Given the description of an element on the screen output the (x, y) to click on. 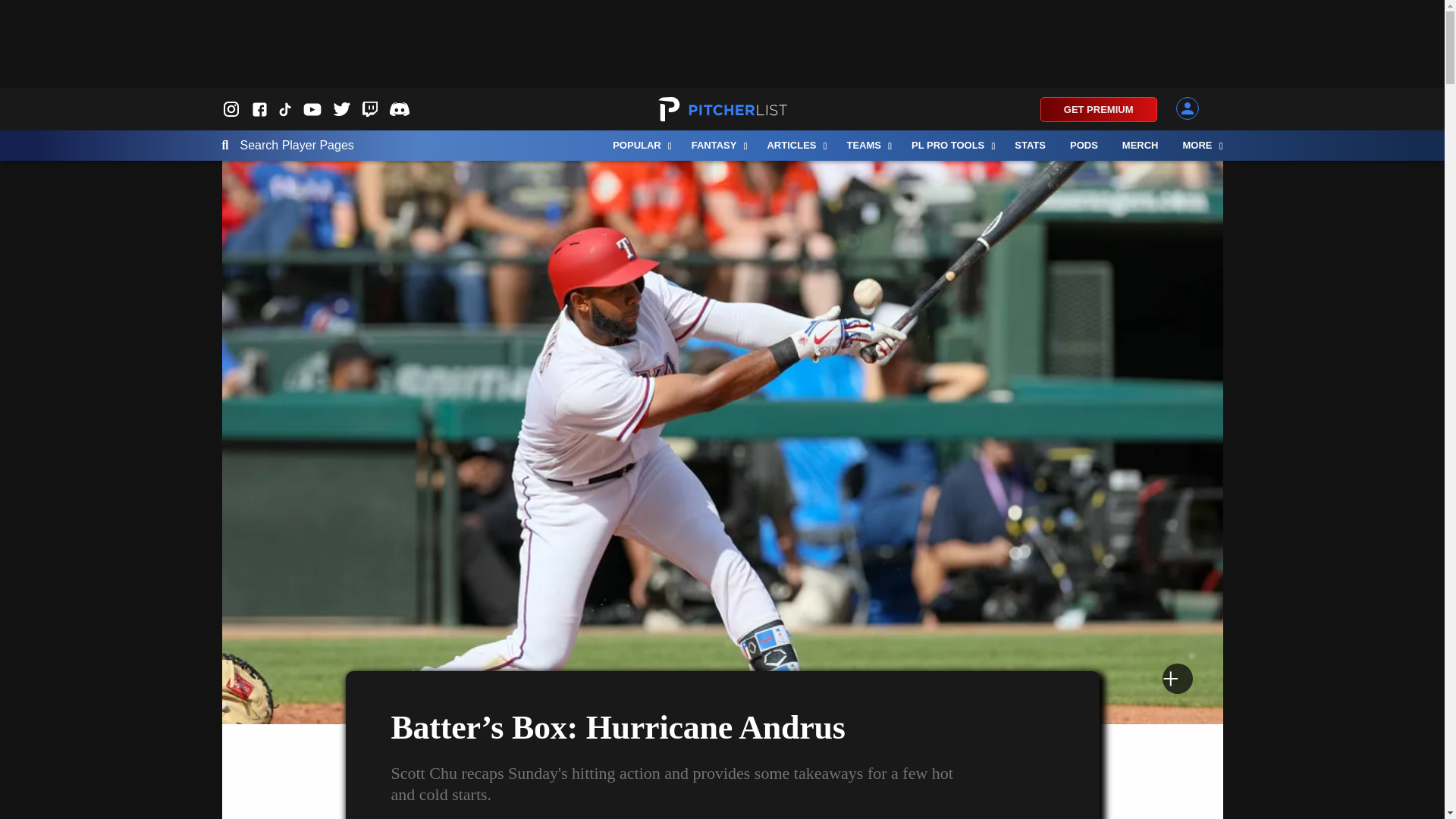
FANTASY (717, 145)
GET PREMIUM (1099, 109)
